Given the description of an element on the screen output the (x, y) to click on. 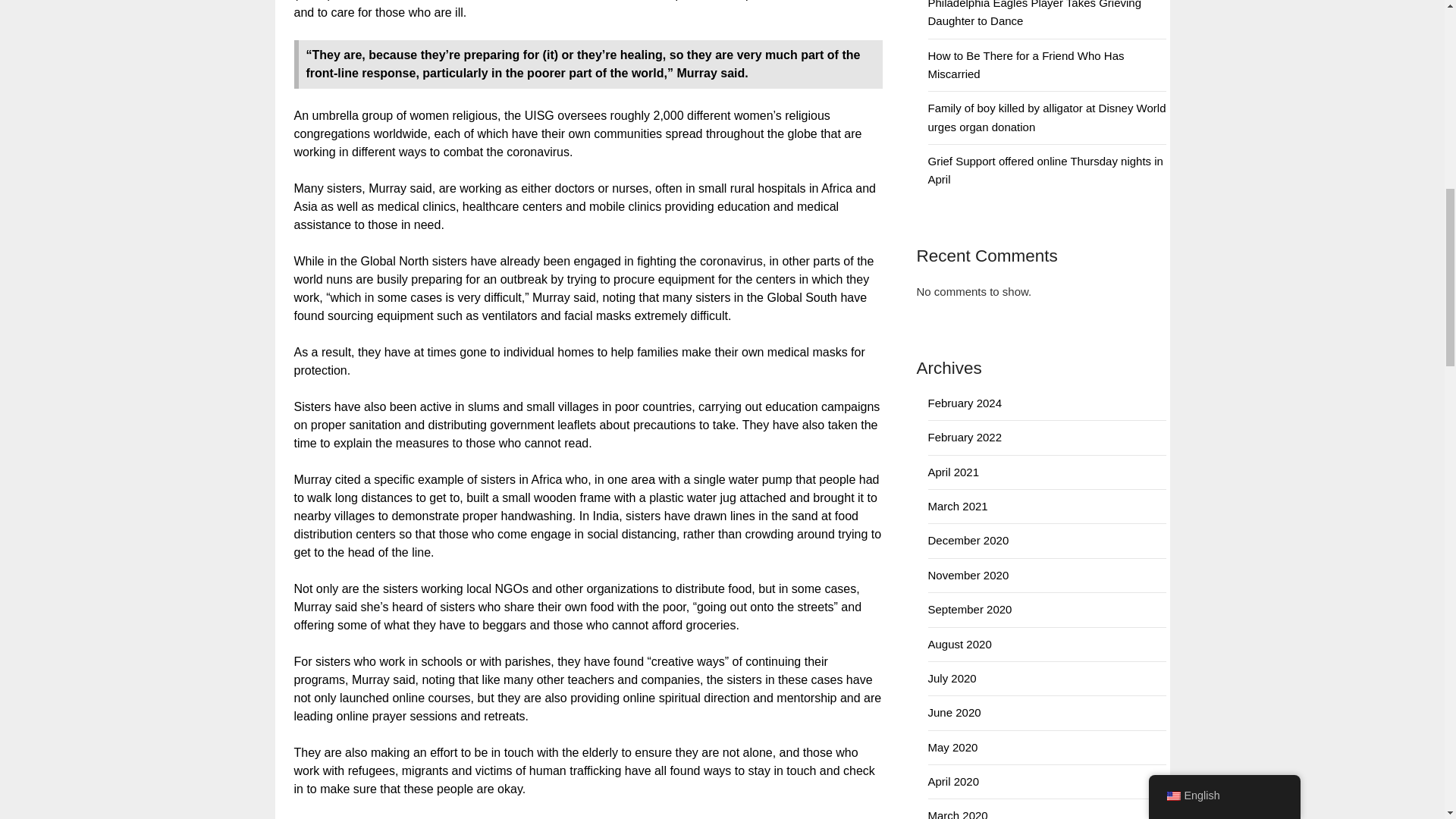
March 2020 (958, 814)
December 2020 (968, 540)
February 2024 (965, 402)
September 2020 (969, 608)
April 2021 (953, 472)
March 2021 (958, 505)
August 2020 (959, 644)
Philadelphia Eagles Player Takes Grieving Daughter to Dance (1034, 13)
May 2020 (953, 747)
February 2022 (965, 436)
November 2020 (968, 574)
How to Be There for a Friend Who Has Miscarried (1026, 64)
April 2020 (953, 780)
July 2020 (952, 677)
